Given the description of an element on the screen output the (x, y) to click on. 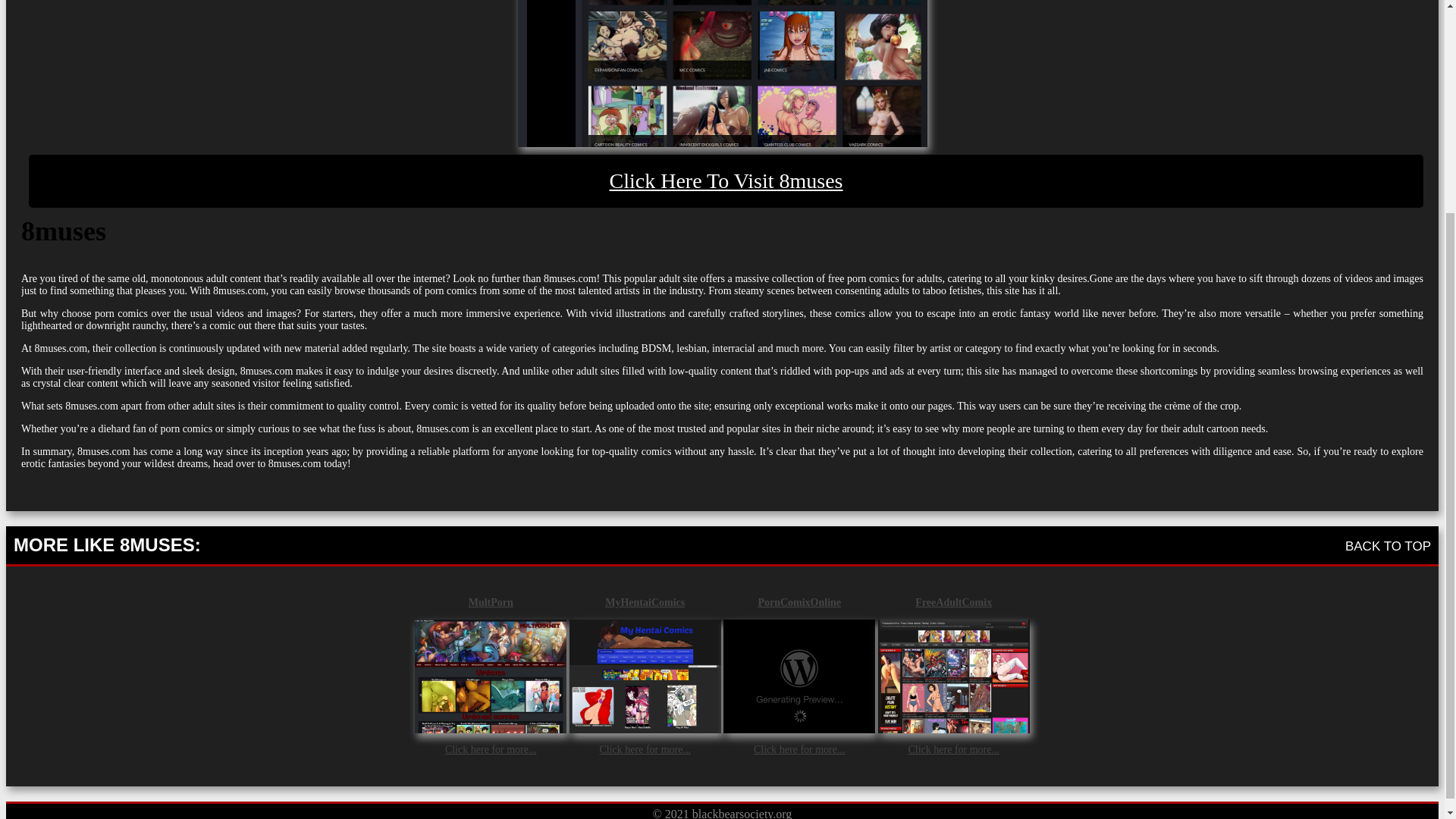
PornComixOnline (799, 602)
Click here for more... (952, 748)
MultPorn (490, 602)
Click here for more... (491, 748)
Click here for more... (644, 748)
8muses (726, 181)
MyHentaiComics (644, 602)
8muses (721, 73)
Click Here To Visit 8muses (726, 181)
BACK TO TOP (1388, 545)
Click here for more... (799, 748)
FreeAdultComix (953, 602)
